Given the description of an element on the screen output the (x, y) to click on. 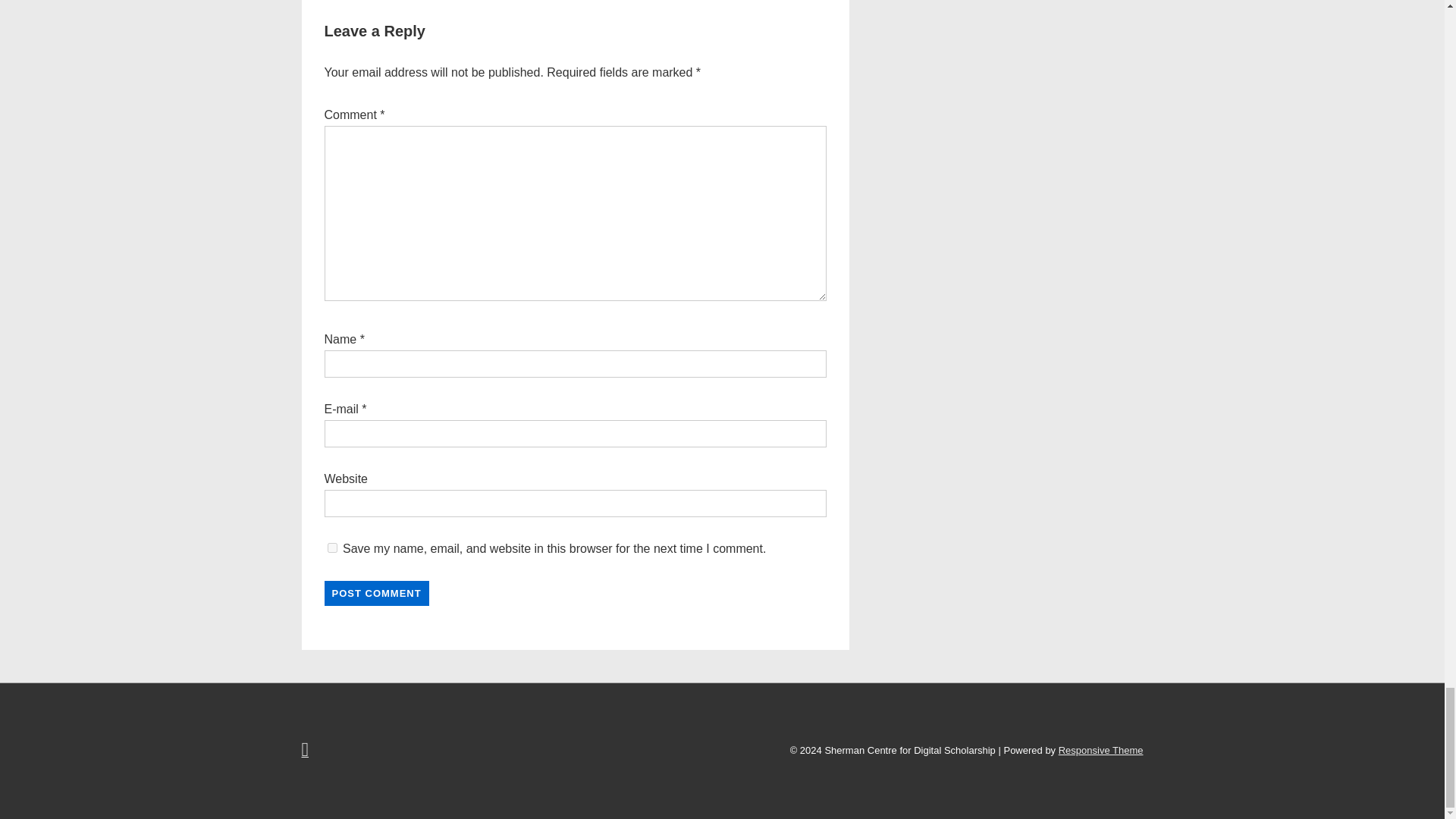
yes (332, 547)
Post Comment (376, 593)
twitter (307, 752)
